Given the description of an element on the screen output the (x, y) to click on. 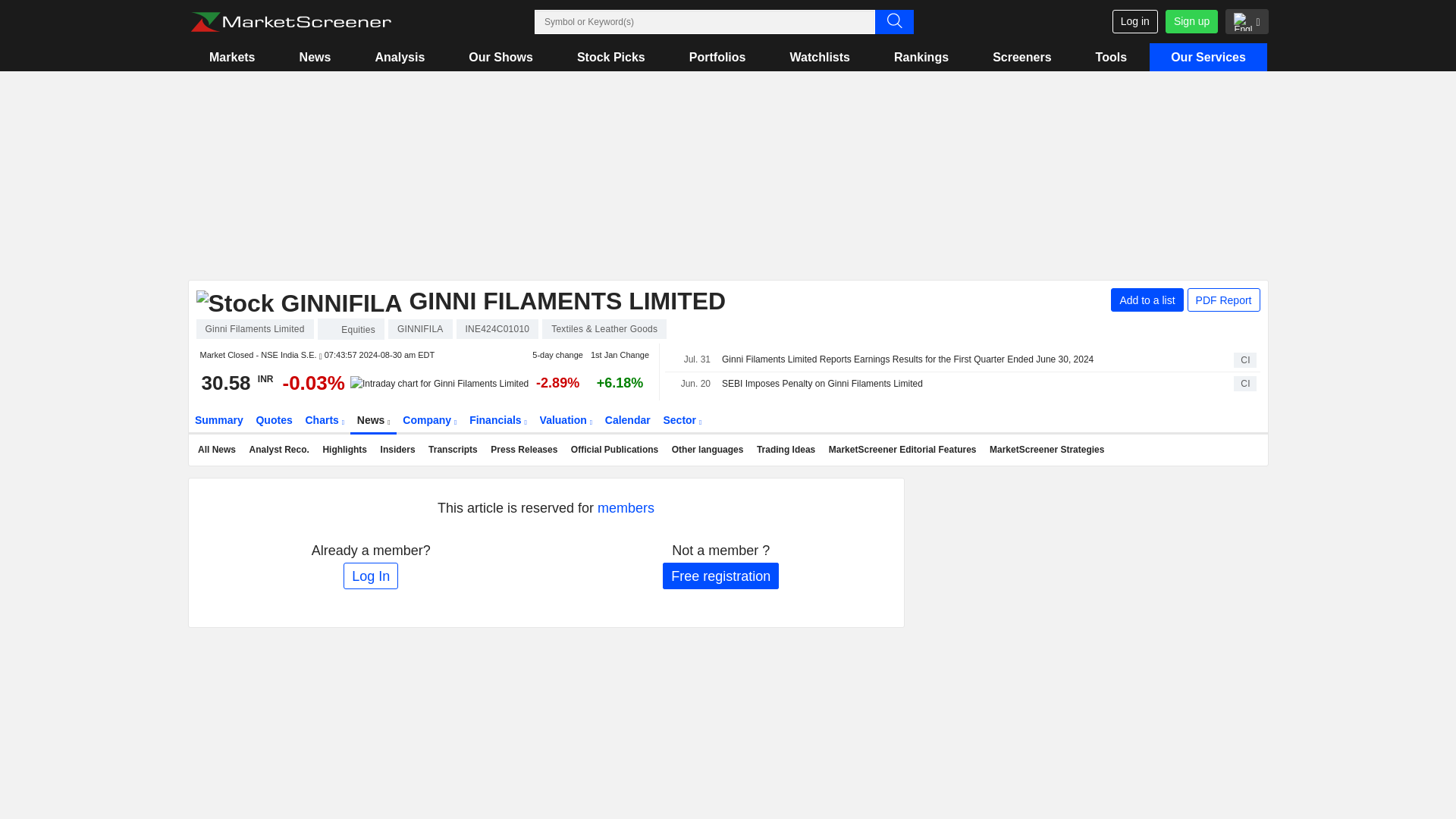
Marketscreener: stock market and financial news (290, 21)
Advanced search (894, 21)
Sign up (1191, 21)
Log in (1134, 21)
Markets (232, 57)
